Given the description of an element on the screen output the (x, y) to click on. 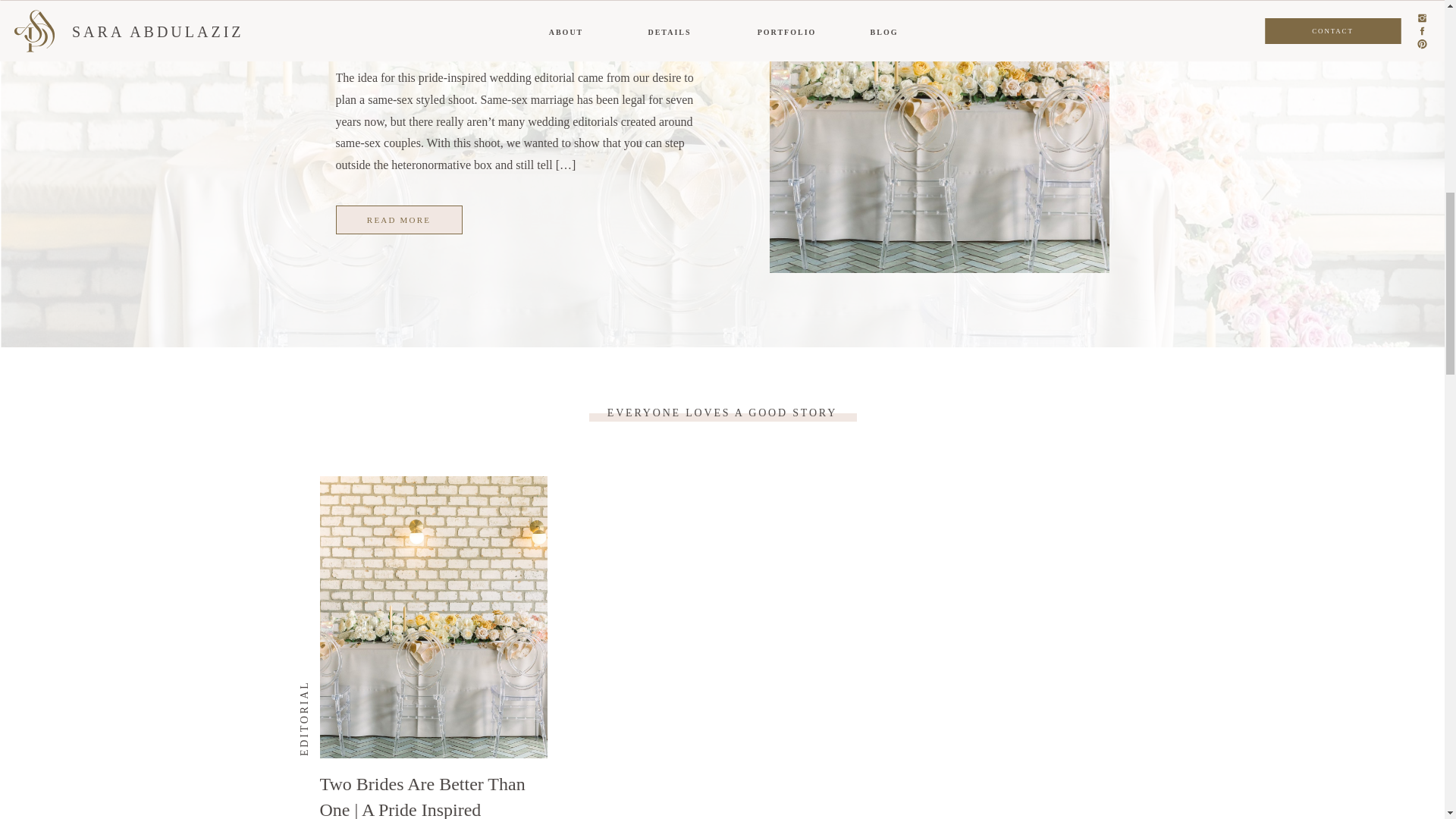
READ MORE (397, 219)
EDITORIAL (336, 685)
